Given the description of an element on the screen output the (x, y) to click on. 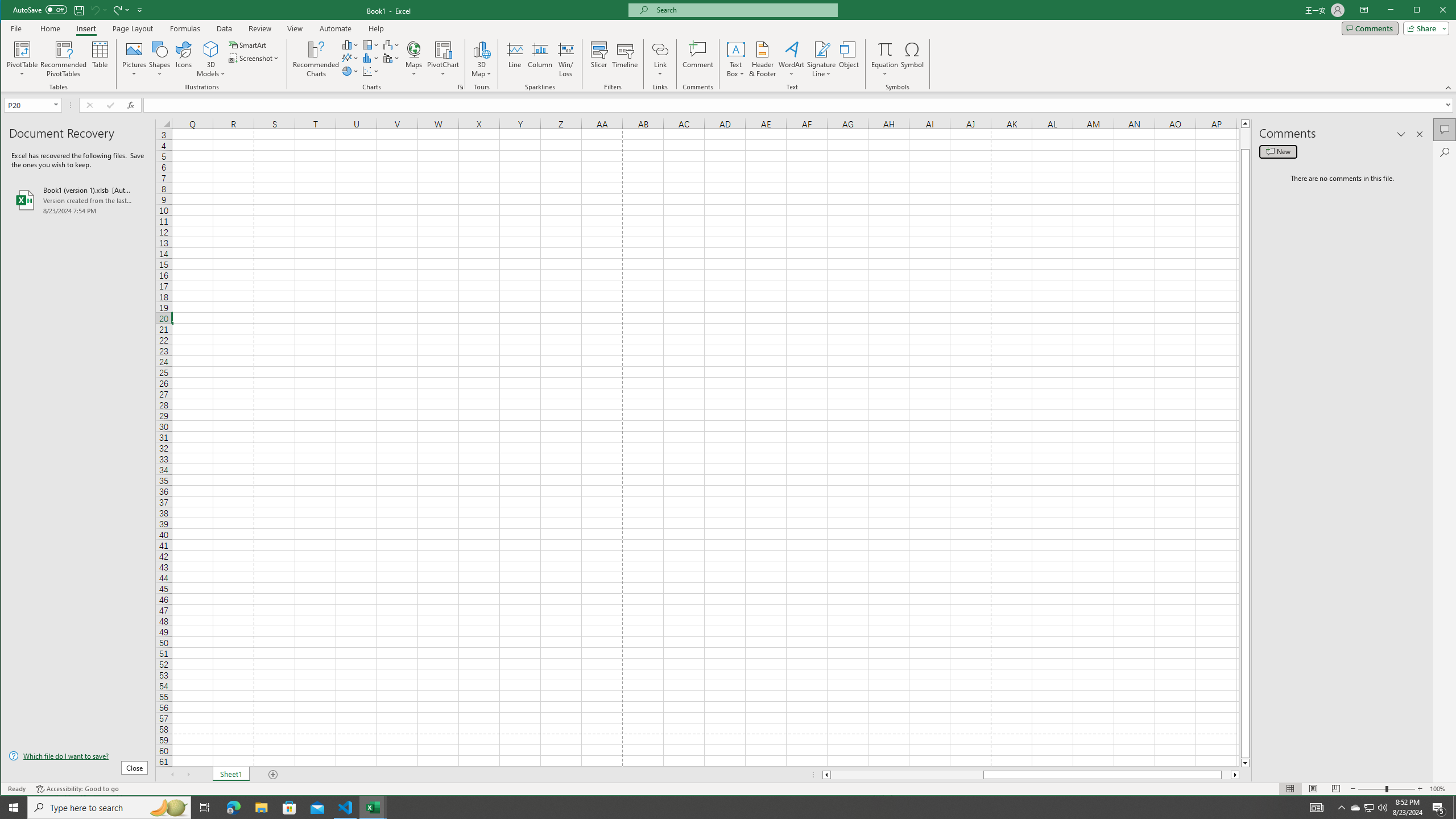
Which file do I want to save? (78, 755)
Icons (183, 59)
Pictures (134, 59)
AutomationID: 4105 (1316, 807)
Equation (884, 59)
Equation (884, 48)
Link (659, 48)
Start (13, 807)
PivotChart (443, 48)
